Given the description of an element on the screen output the (x, y) to click on. 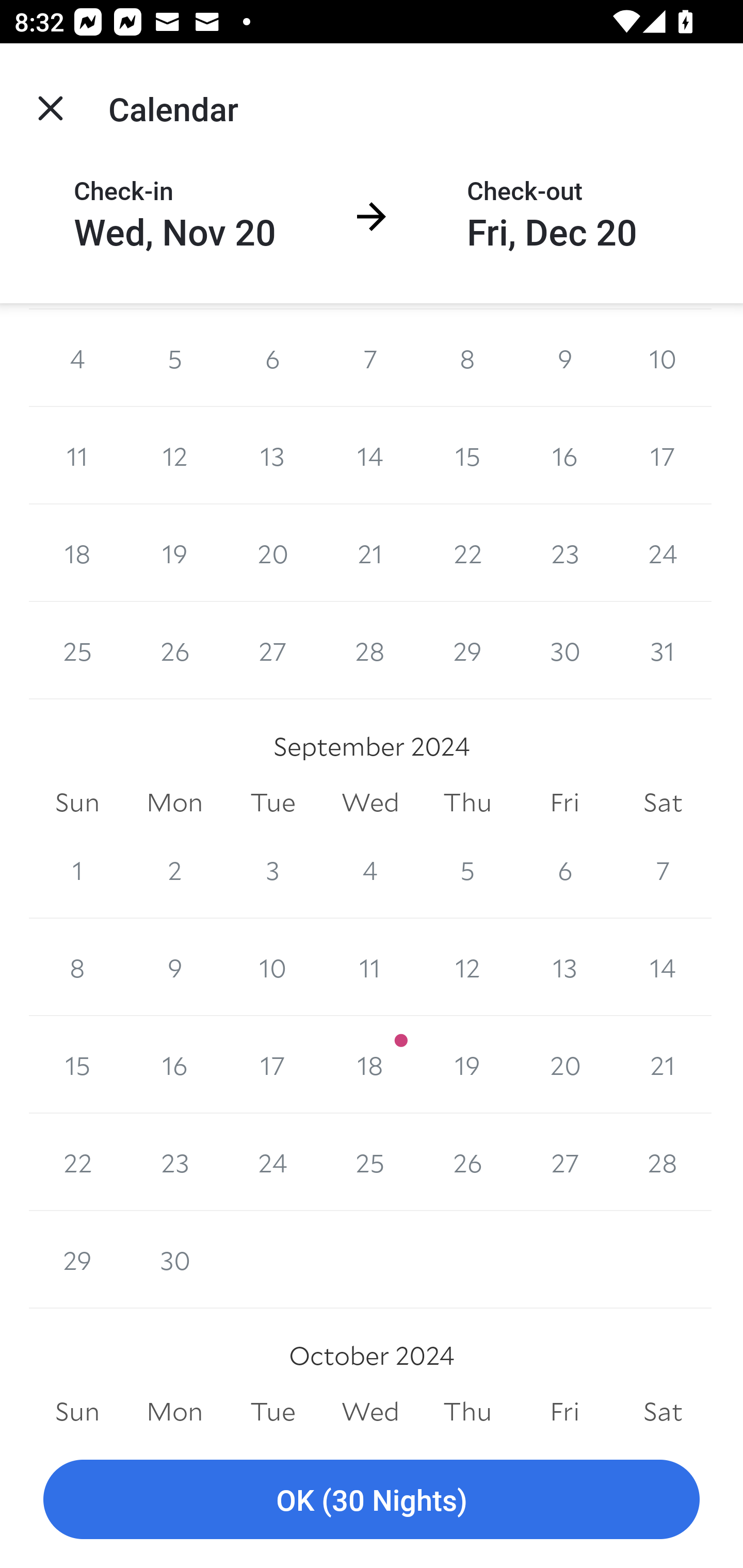
4 4 August 2024 (77, 357)
5 5 August 2024 (174, 357)
6 6 August 2024 (272, 357)
7 7 August 2024 (370, 357)
8 8 August 2024 (467, 357)
9 9 August 2024 (564, 357)
10 10 August 2024 (662, 357)
11 11 August 2024 (77, 455)
12 12 August 2024 (174, 455)
13 13 August 2024 (272, 455)
14 14 August 2024 (370, 455)
15 15 August 2024 (467, 455)
16 16 August 2024 (564, 455)
17 17 August 2024 (662, 455)
18 18 August 2024 (77, 553)
19 19 August 2024 (174, 553)
20 20 August 2024 (272, 553)
21 21 August 2024 (370, 553)
22 22 August 2024 (467, 553)
23 23 August 2024 (564, 553)
24 24 August 2024 (662, 553)
25 25 August 2024 (77, 650)
26 26 August 2024 (174, 650)
27 27 August 2024 (272, 650)
28 28 August 2024 (370, 650)
29 29 August 2024 (467, 650)
30 30 August 2024 (564, 650)
31 31 August 2024 (662, 650)
Sun (77, 802)
Mon (174, 802)
Tue (272, 802)
Wed (370, 802)
Thu (467, 802)
Fri (564, 802)
Sat (662, 802)
1 1 September 2024 (77, 869)
2 2 September 2024 (174, 869)
3 3 September 2024 (272, 869)
4 4 September 2024 (370, 869)
5 5 September 2024 (467, 869)
6 6 September 2024 (564, 869)
7 7 September 2024 (662, 869)
8 8 September 2024 (77, 967)
9 9 September 2024 (174, 967)
10 10 September 2024 (272, 967)
11 11 September 2024 (370, 967)
12 12 September 2024 (467, 967)
13 13 September 2024 (564, 967)
14 14 September 2024 (662, 967)
15 15 September 2024 (77, 1064)
16 16 September 2024 (174, 1064)
17 17 September 2024 (272, 1064)
18 18 September 2024 (370, 1064)
19 19 September 2024 (467, 1064)
20 20 September 2024 (564, 1064)
21 21 September 2024 (662, 1064)
22 22 September 2024 (77, 1161)
23 23 September 2024 (174, 1161)
24 24 September 2024 (272, 1161)
25 25 September 2024 (370, 1161)
26 26 September 2024 (467, 1161)
27 27 September 2024 (564, 1161)
28 28 September 2024 (662, 1161)
29 29 September 2024 (77, 1259)
30 30 September 2024 (174, 1259)
Sun (77, 1411)
Mon (174, 1411)
Tue (272, 1411)
Wed (370, 1411)
Thu (467, 1411)
Fri (564, 1411)
Sat (662, 1411)
OK (30 Nights) (371, 1499)
